Given the description of an element on the screen output the (x, y) to click on. 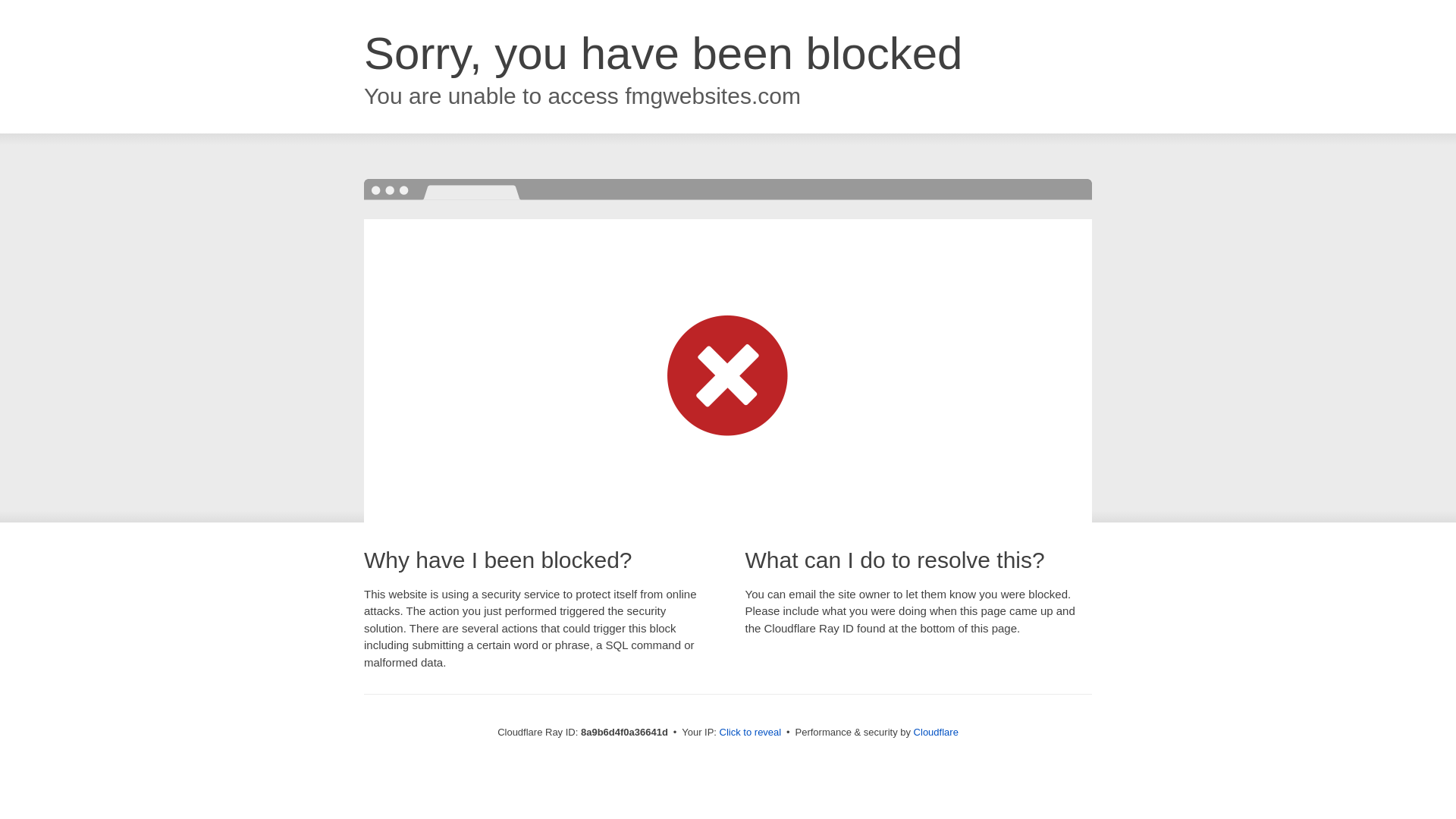
Click to reveal (750, 732)
Cloudflare (936, 731)
